Given the description of an element on the screen output the (x, y) to click on. 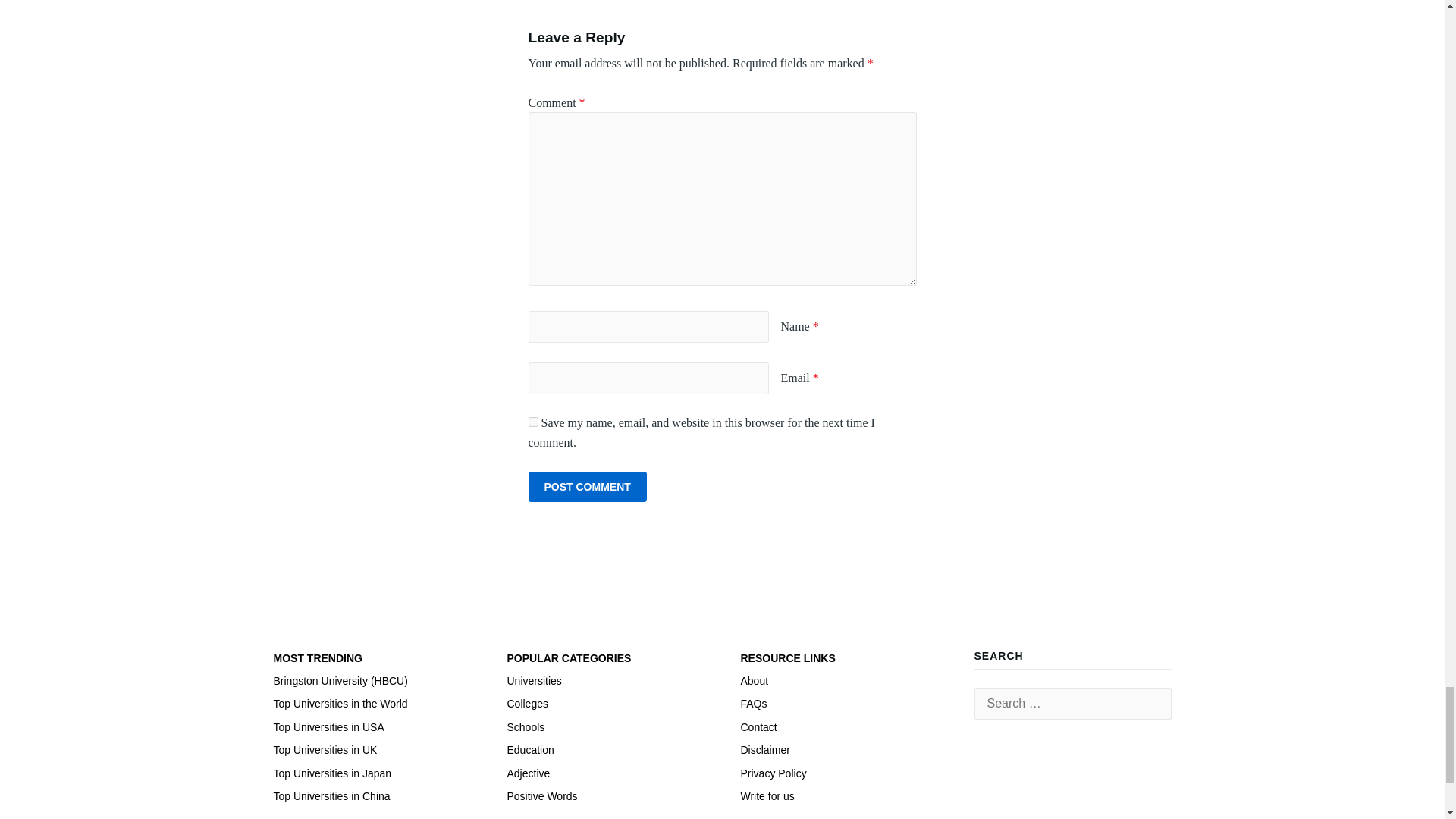
Post Comment (586, 486)
yes (532, 421)
